Given the description of an element on the screen output the (x, y) to click on. 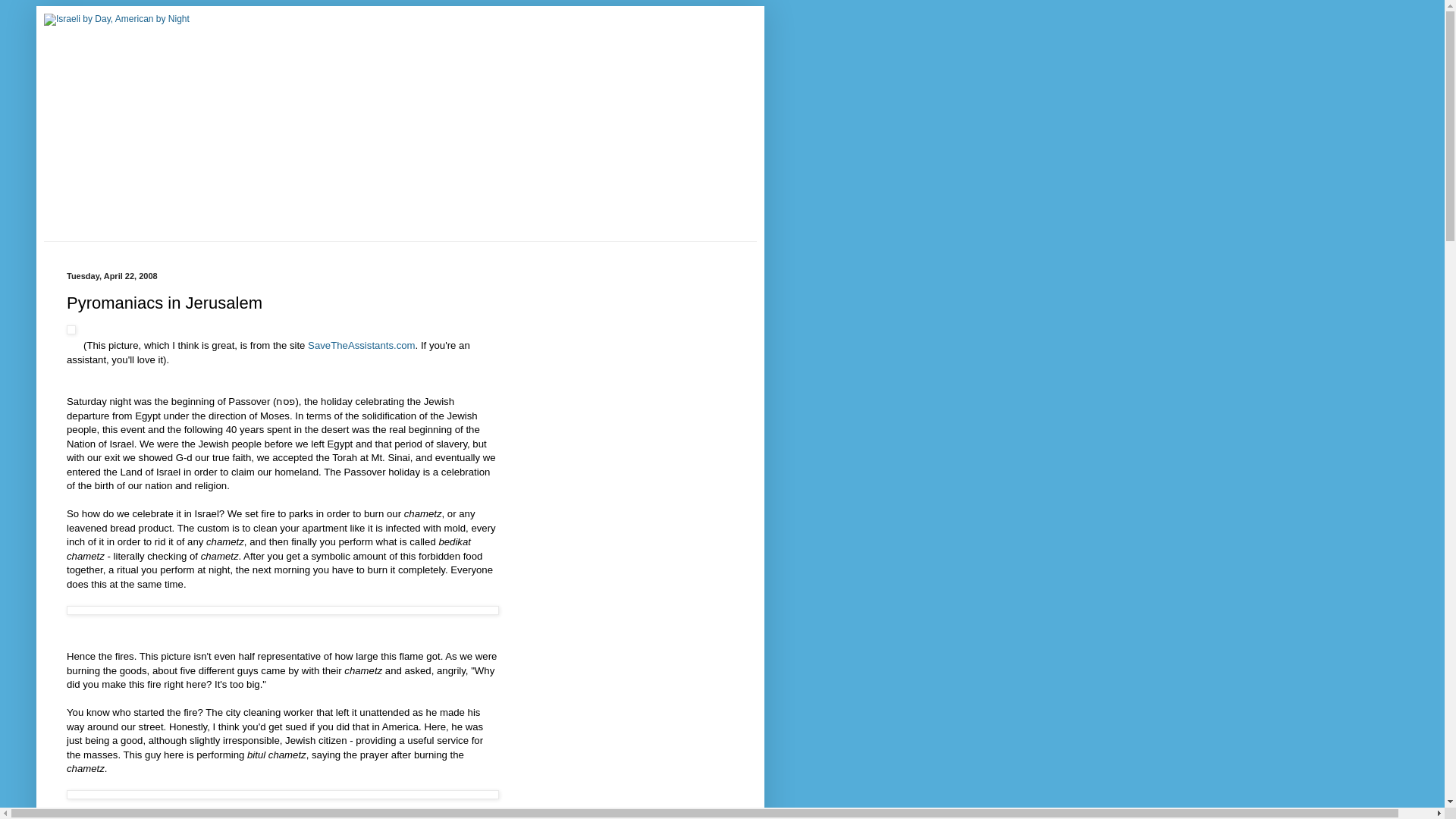
SaveTheAssistants.com (360, 345)
